Given the description of an element on the screen output the (x, y) to click on. 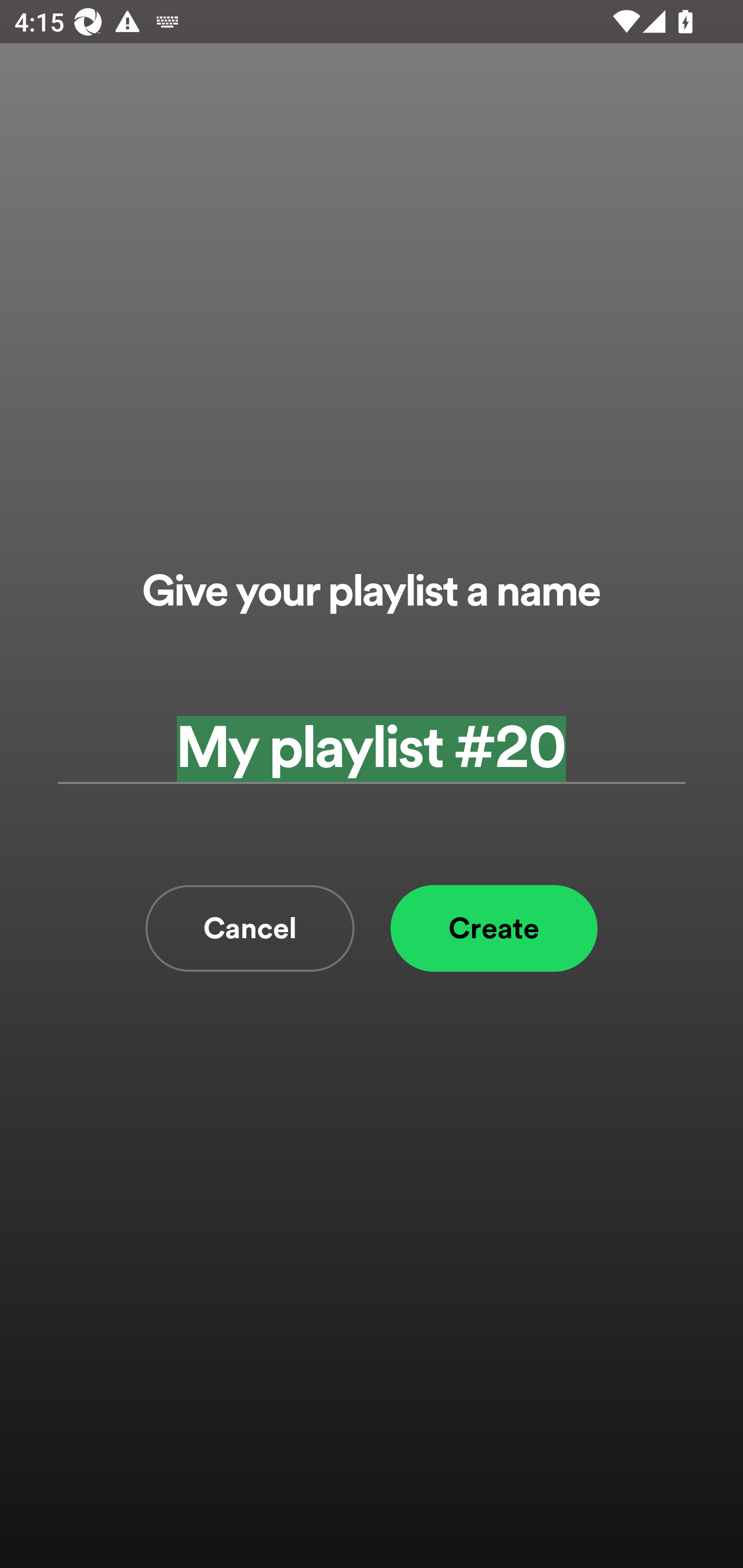
My playlist #20 Add a playlist name (371, 749)
Cancel (249, 928)
Create (493, 928)
